Given the description of an element on the screen output the (x, y) to click on. 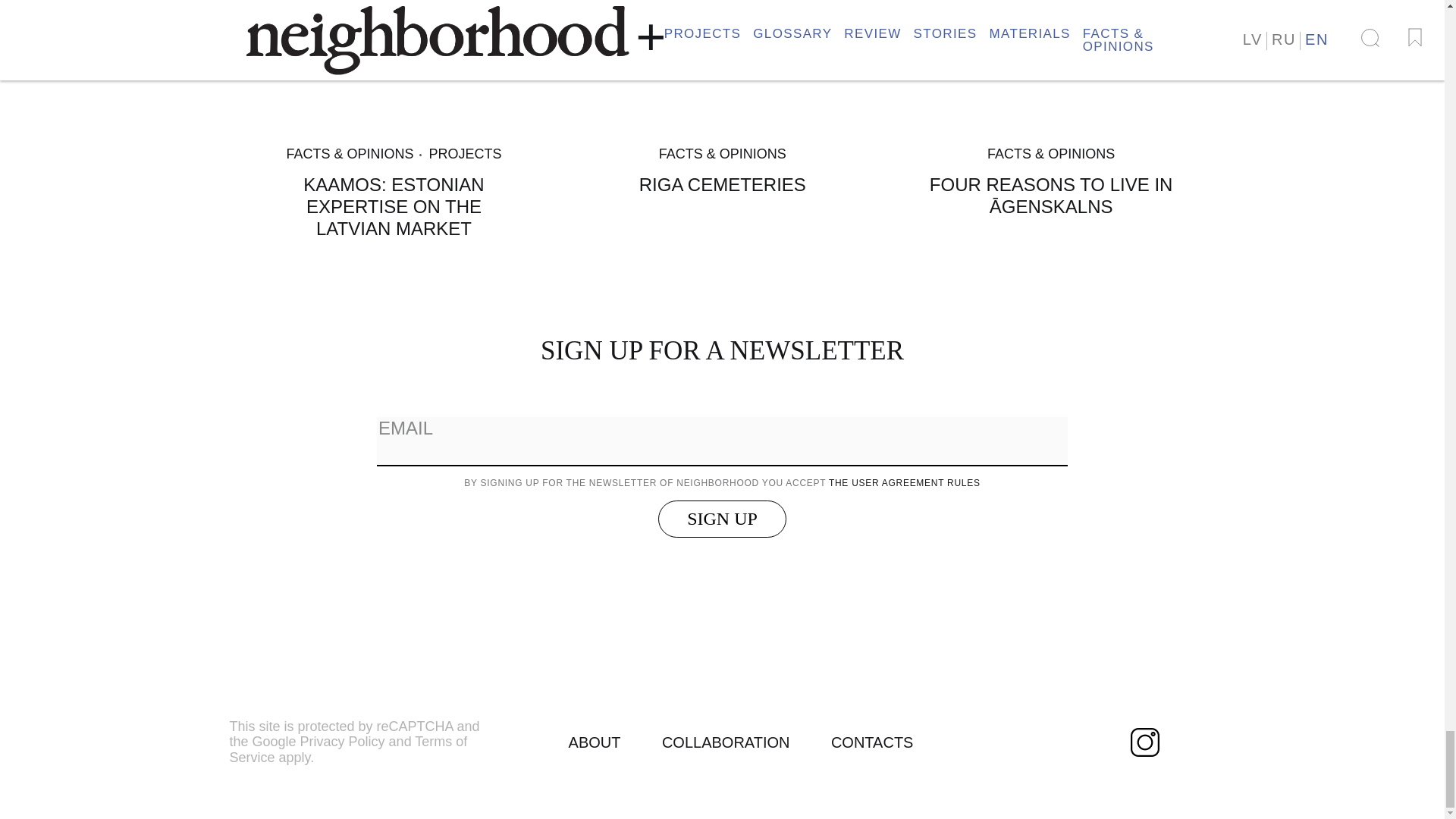
Sign up (722, 518)
